Given the description of an element on the screen output the (x, y) to click on. 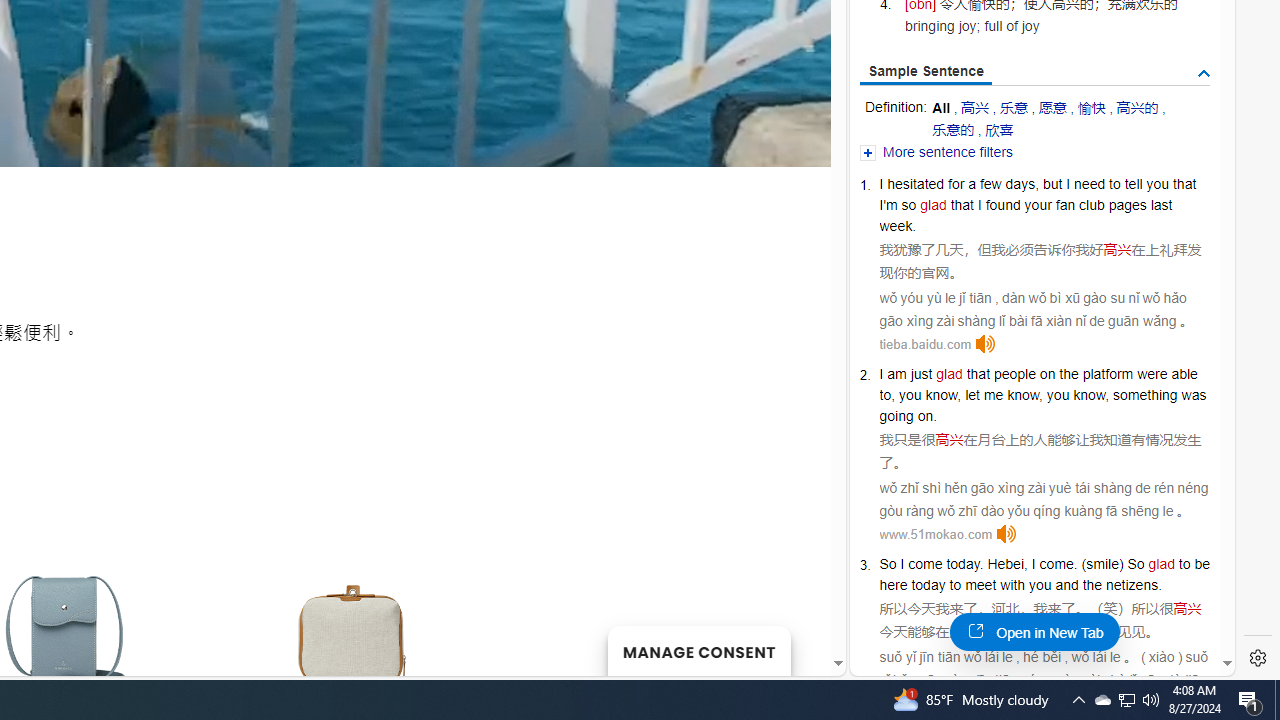
So (1135, 563)
, (1025, 563)
glad (1161, 563)
MANAGE CONSENT (698, 650)
found (1003, 205)
